Given the description of an element on the screen output the (x, y) to click on. 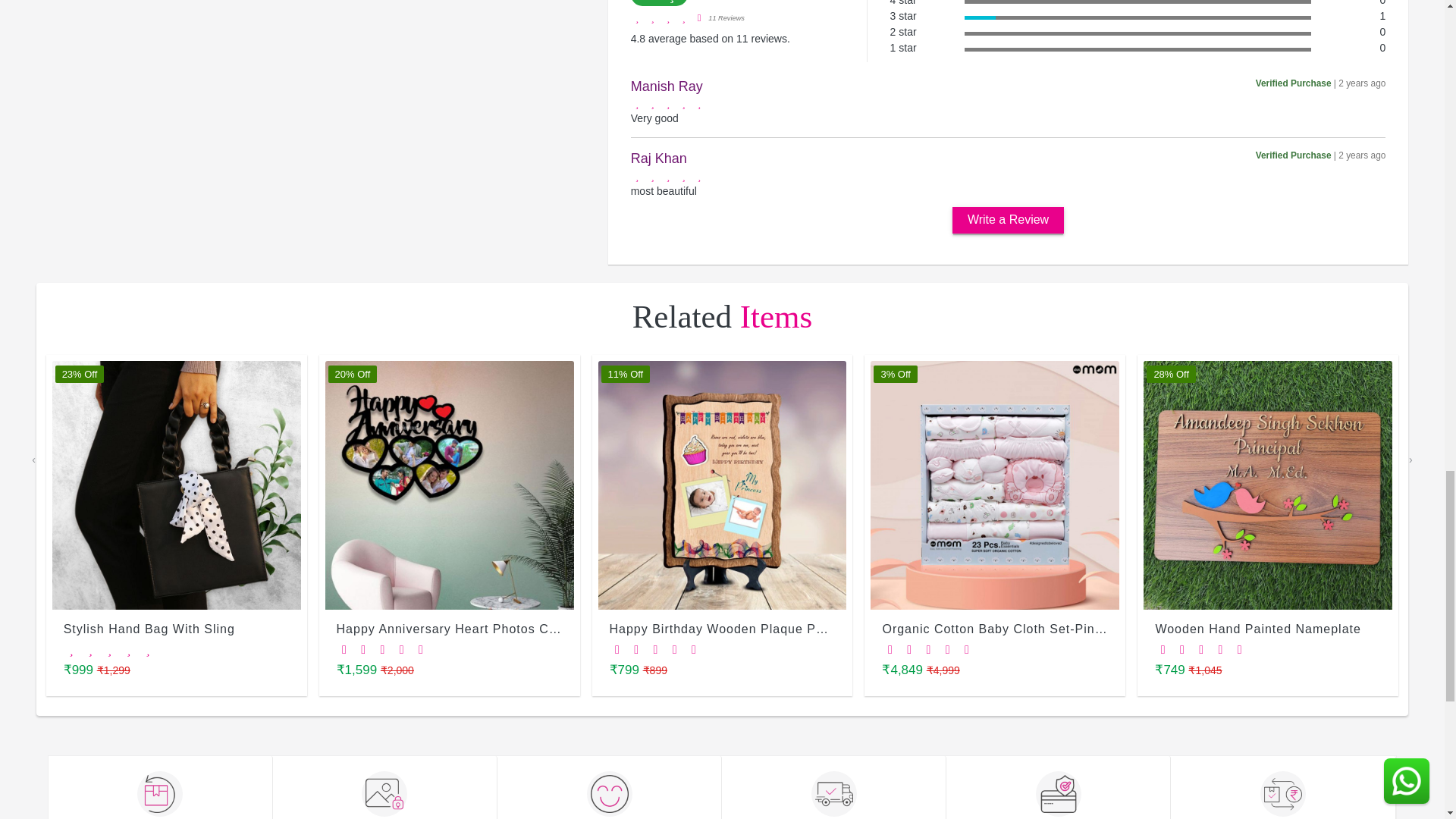
Wooden hand painted nameplate (1266, 485)
Happy birthday wooden plaque photo (720, 485)
Stylish Hand Bag With Sling (176, 485)
Happy Anniversary Heart Photos Collage (448, 485)
